Given the description of an element on the screen output the (x, y) to click on. 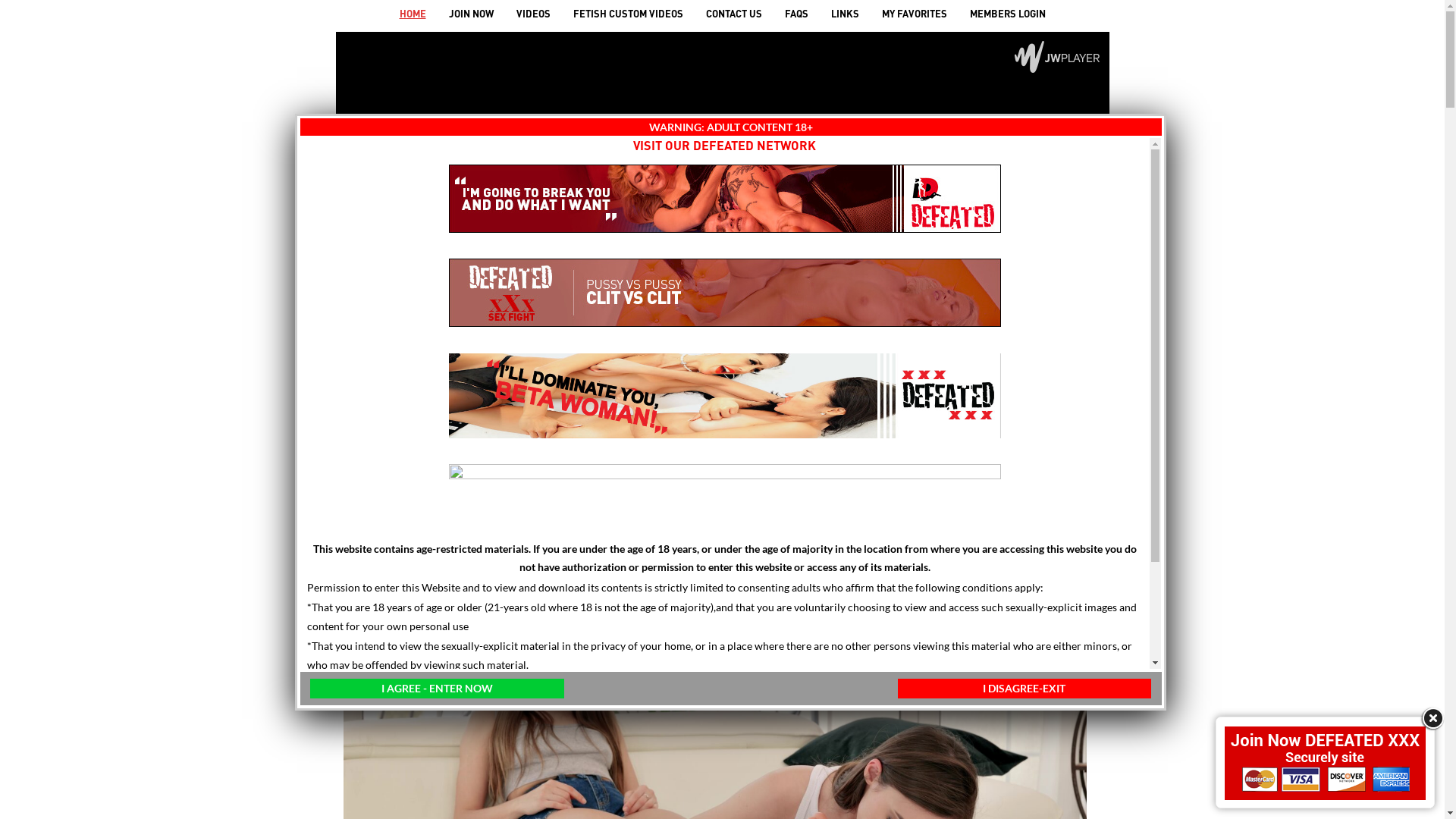
JOIN NOW Element type: text (470, 13)
  Element type: text (433, 496)
CONTACT US Element type: text (733, 13)
HOME Element type: text (412, 13)
MEMBERS LOGIN Element type: text (1007, 13)
LINKS Element type: text (844, 13)
FETISH CUSTOM VIDEOS Element type: text (627, 13)
VIDEOS Element type: text (533, 13)
I AGREE - ENTER NOW Element type: text (436, 688)
  Element type: text (1010, 496)
FAQS Element type: text (796, 13)
MY FAVORITES Element type: text (914, 13)
I DISAGREE-EXIT Element type: text (1024, 688)
Close Element type: text (1431, 719)
TALIA MINT WONDERFUL SOLES Element type: text (459, 575)
  Element type: text (992, 496)
